Given the description of an element on the screen output the (x, y) to click on. 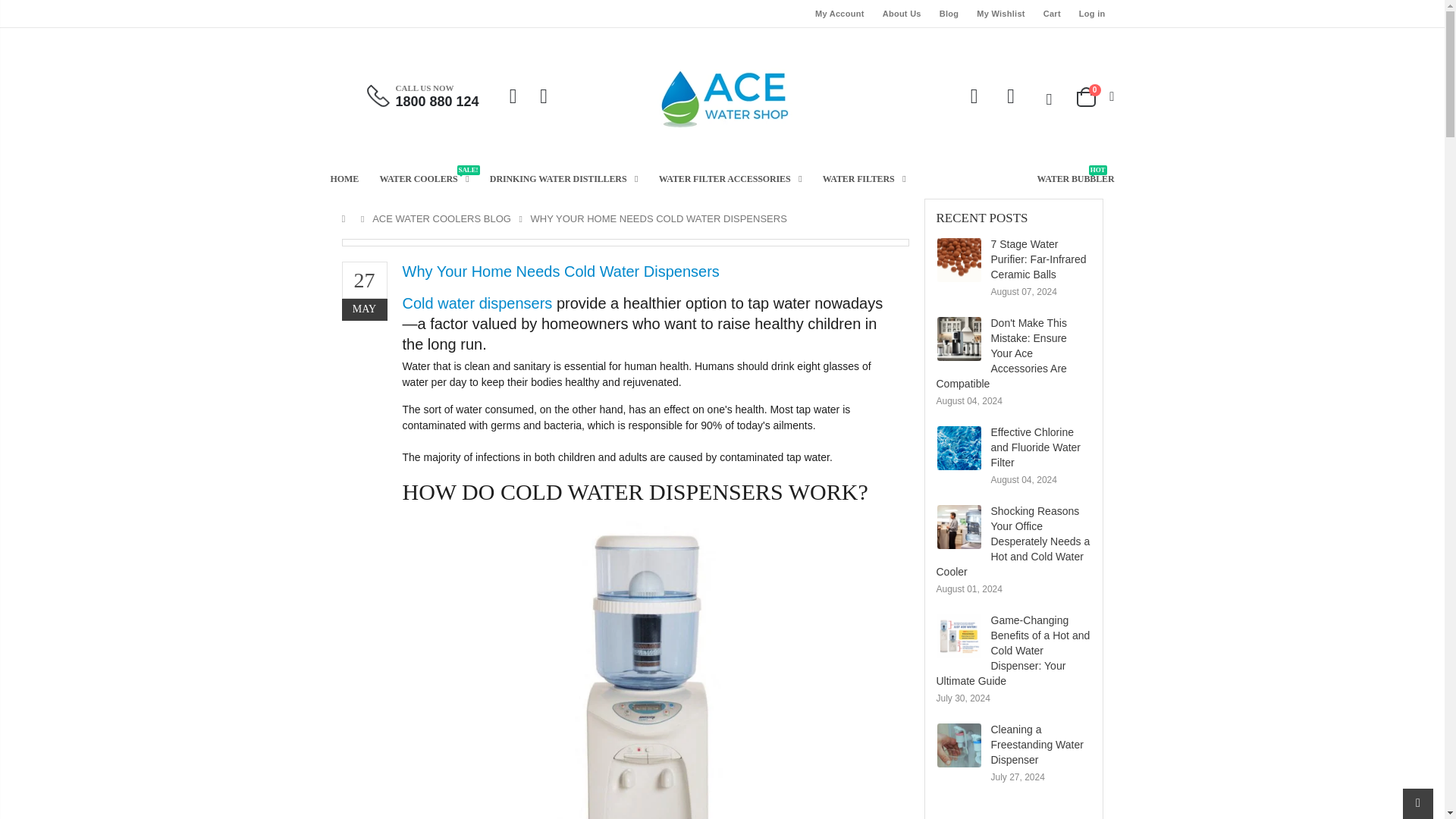
My Account (839, 13)
About Us (901, 13)
Log in (1091, 13)
Cart (1052, 13)
Blog (949, 13)
My Wishlist (1000, 13)
